Given the description of an element on the screen output the (x, y) to click on. 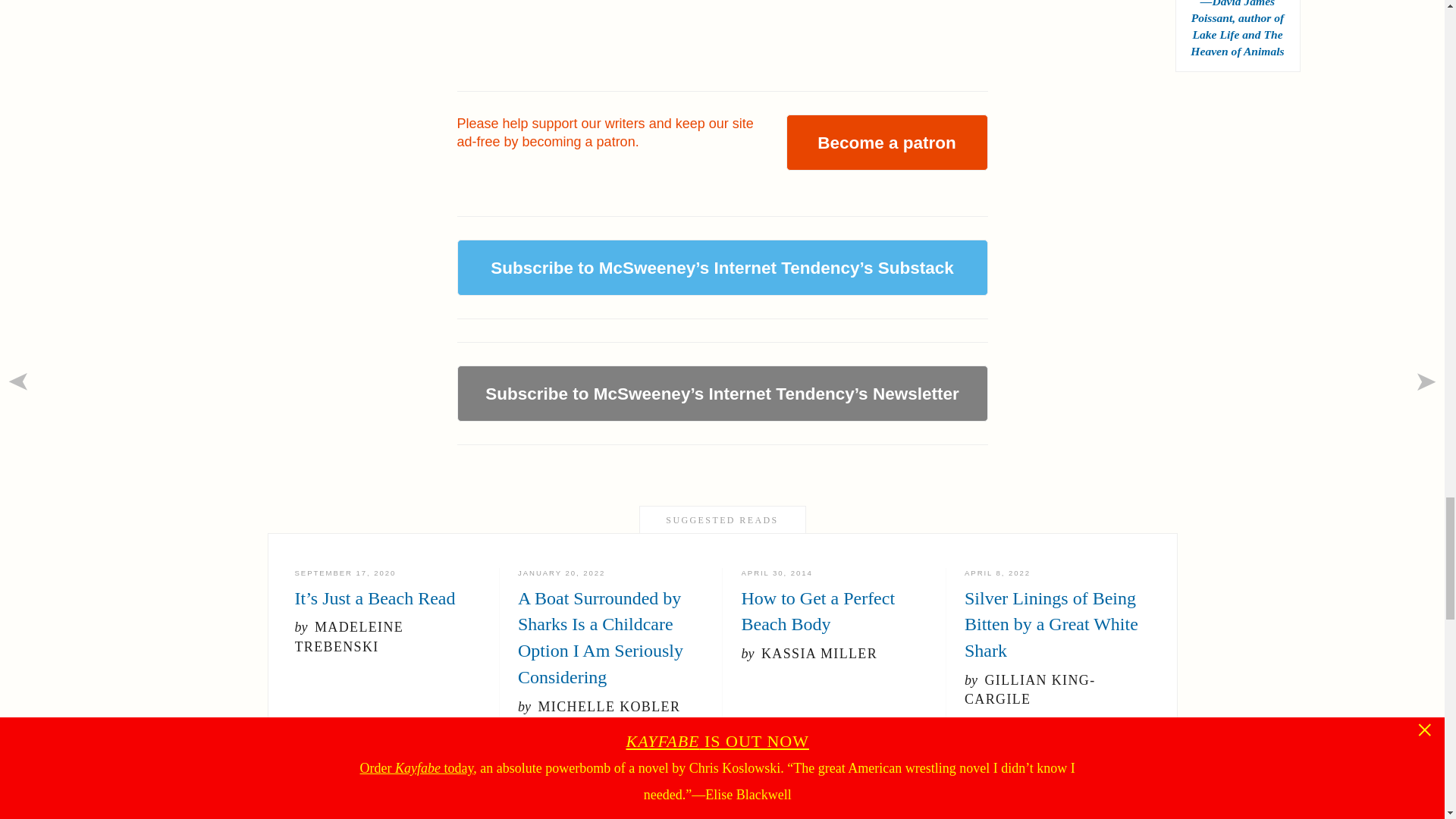
Become a patron (886, 142)
